Given the description of an element on the screen output the (x, y) to click on. 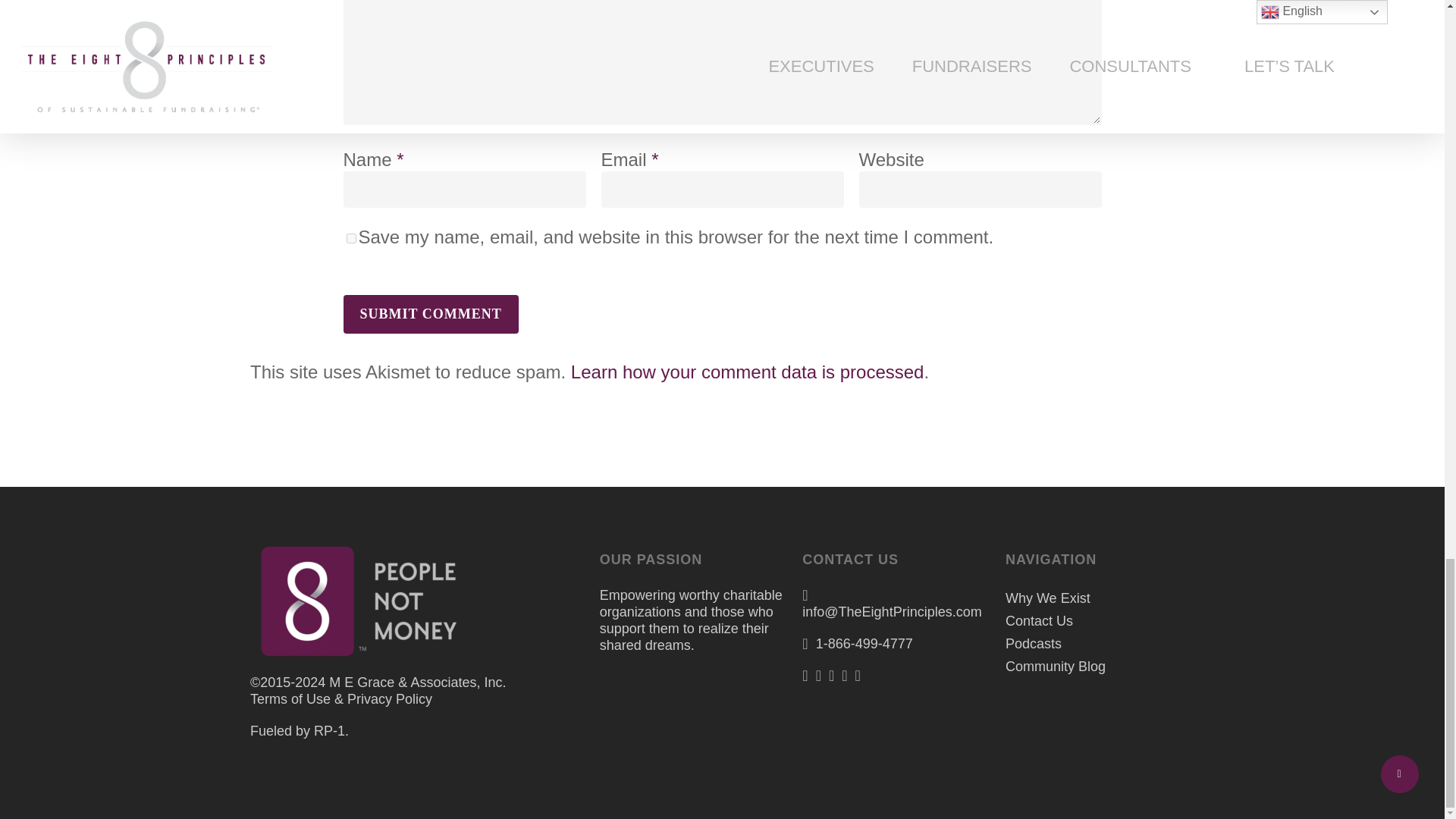
1-866-499-4777 (863, 643)
Submit Comment (430, 313)
Fueled by RP-1. (299, 730)
yes (350, 238)
Contact Us (1097, 620)
Why We Exist (1097, 597)
Submit Comment (430, 313)
Learn how your comment data is processed (747, 371)
